Given the description of an element on the screen output the (x, y) to click on. 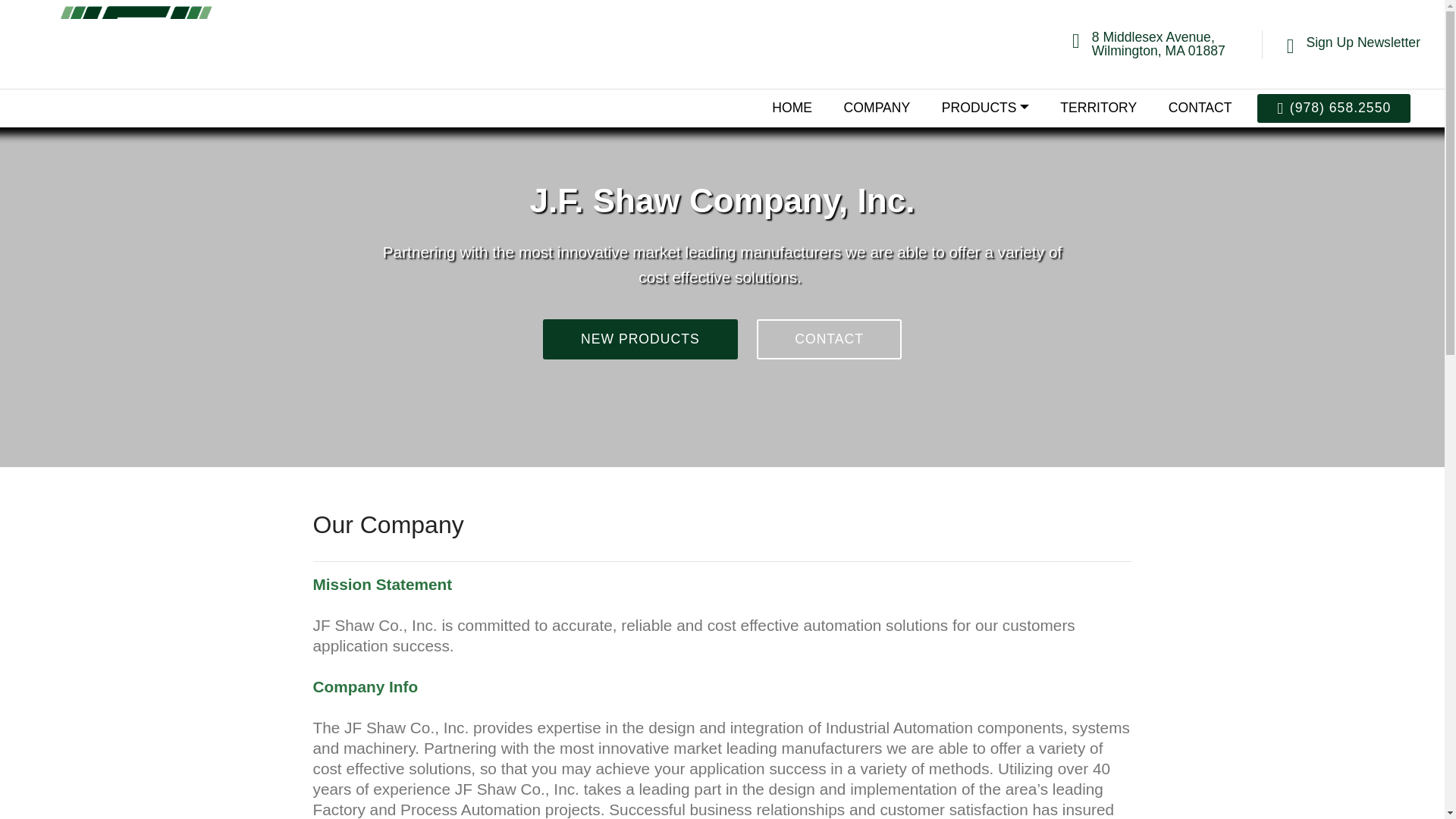
CONTACT (829, 339)
Wilmington, MA 01887 (1158, 50)
NEW PRODUCTS (640, 339)
PRODUCTS (985, 108)
8 Middlesex Avenue, (1153, 37)
TERRITORY (1098, 108)
Sign Up Newsletter (1363, 42)
HOME (791, 108)
CONTACT (1200, 108)
COMPANY (877, 108)
